Given the description of an element on the screen output the (x, y) to click on. 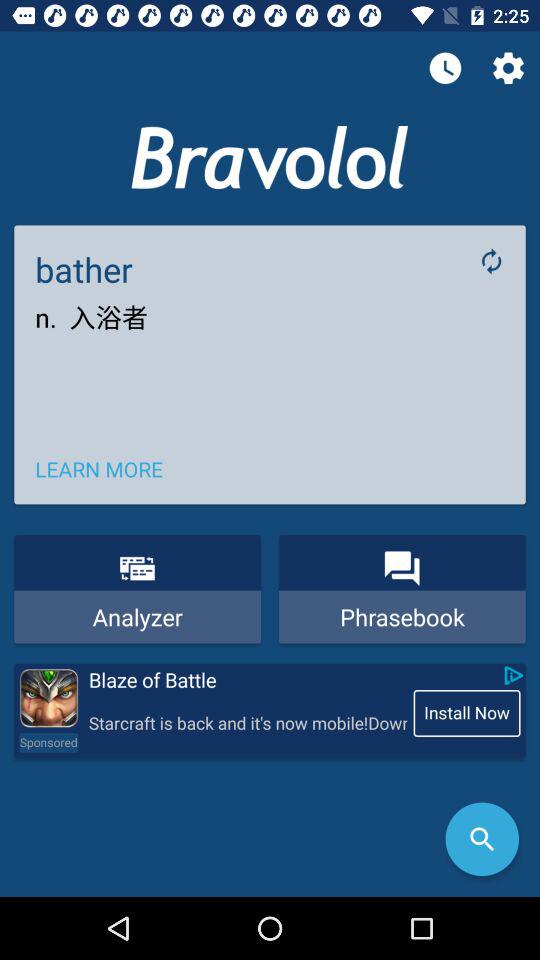
press the icon next to the install now (247, 723)
